Given the description of an element on the screen output the (x, y) to click on. 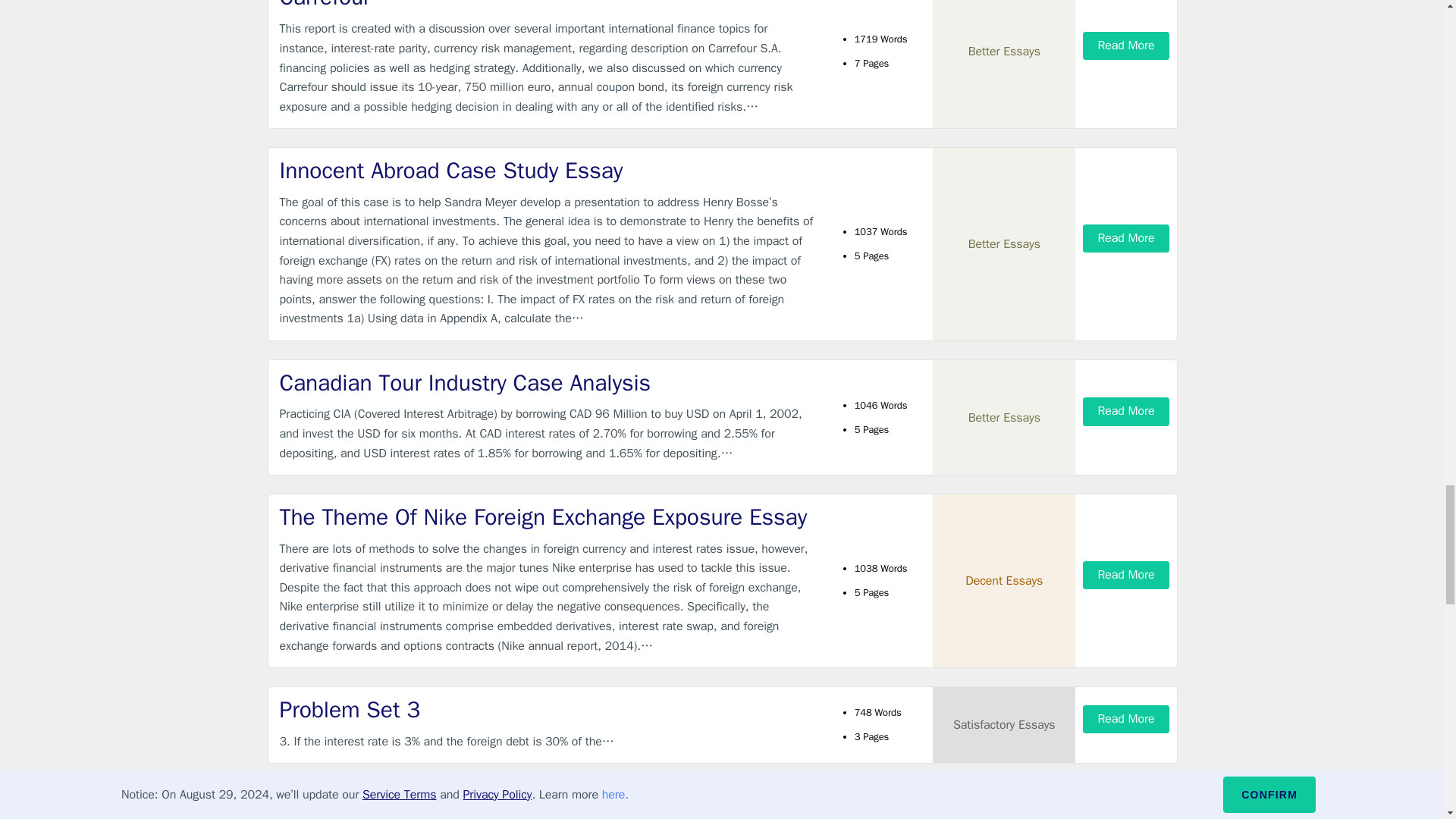
Carrefour (548, 6)
Innocent Abroad Case Study Essay (548, 170)
Read More (1126, 45)
